Given the description of an element on the screen output the (x, y) to click on. 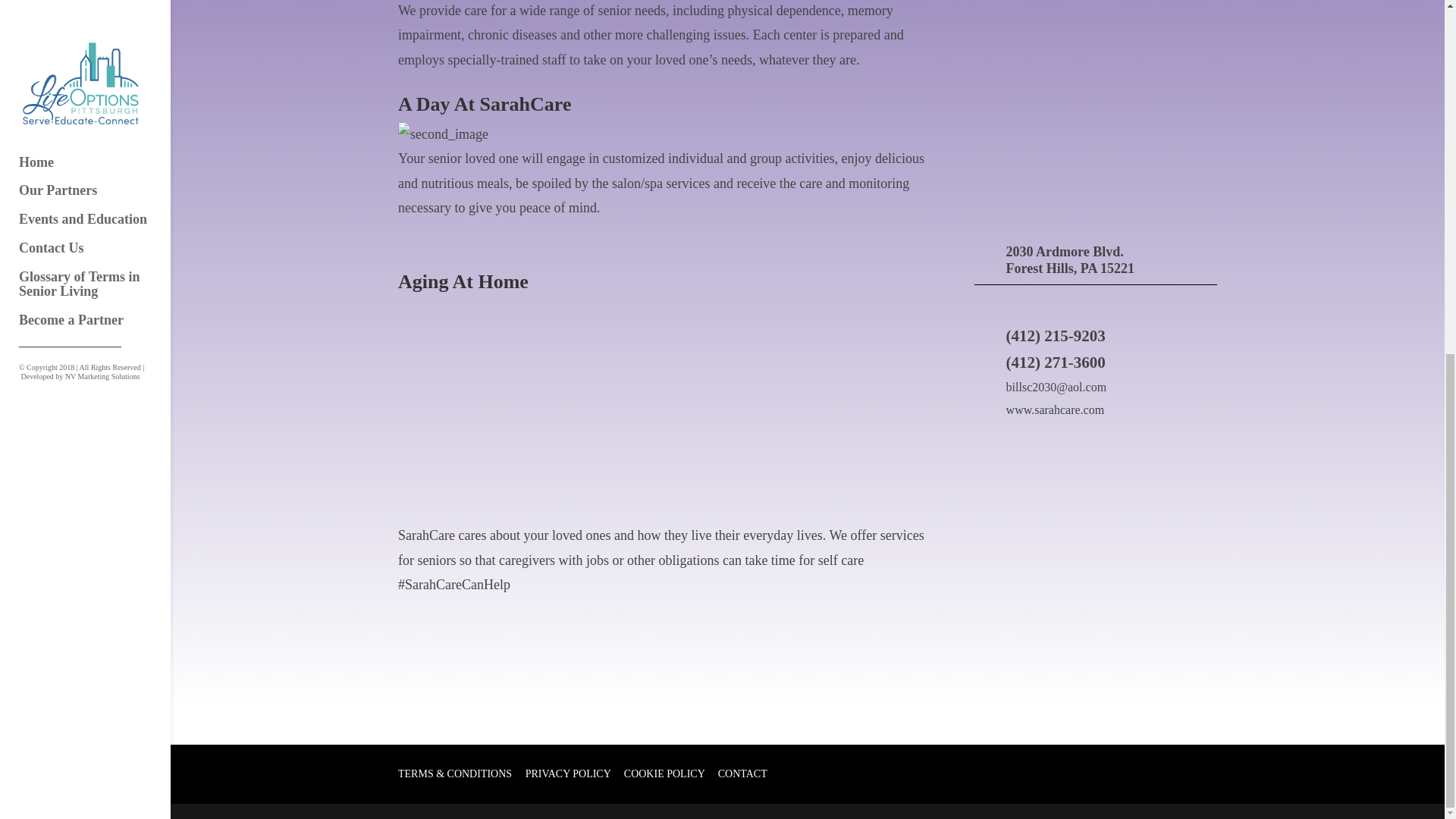
PRIVACY POLICY (568, 773)
www.sarahcare.com (1055, 409)
COOKIE POLICY (664, 773)
CONTACT (742, 773)
